Given the description of an element on the screen output the (x, y) to click on. 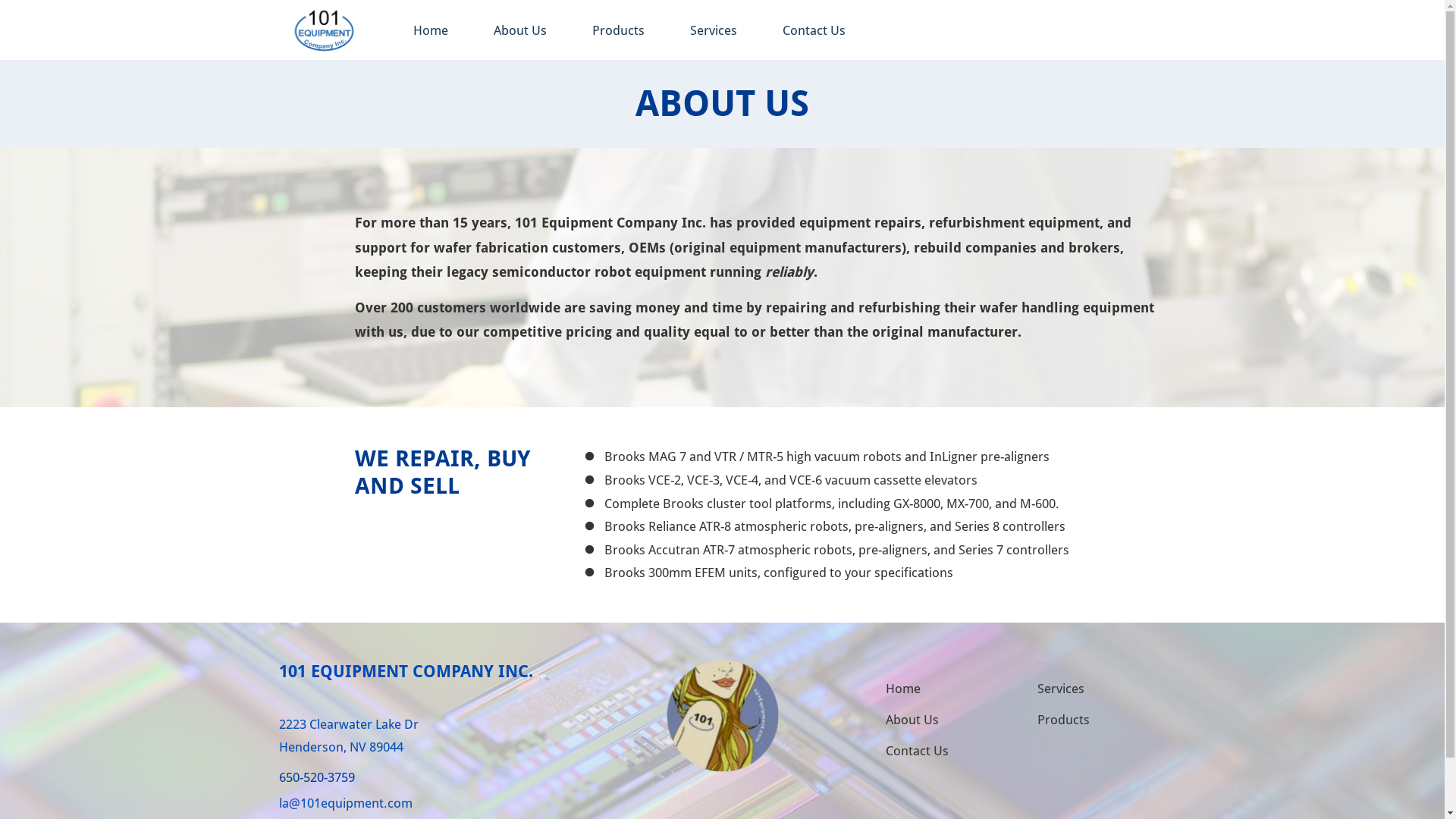
Services Element type: text (1060, 688)
Products Element type: text (618, 29)
la@101equipment.com Element type: text (345, 803)
Home Element type: text (902, 688)
Contact Us Element type: text (812, 29)
About Us Element type: text (519, 29)
650-520-3759 Element type: text (316, 777)
Home Element type: text (430, 29)
Services Element type: text (712, 29)
Contact Us Element type: text (916, 751)
About Us Element type: text (911, 720)
